Given the description of an element on the screen output the (x, y) to click on. 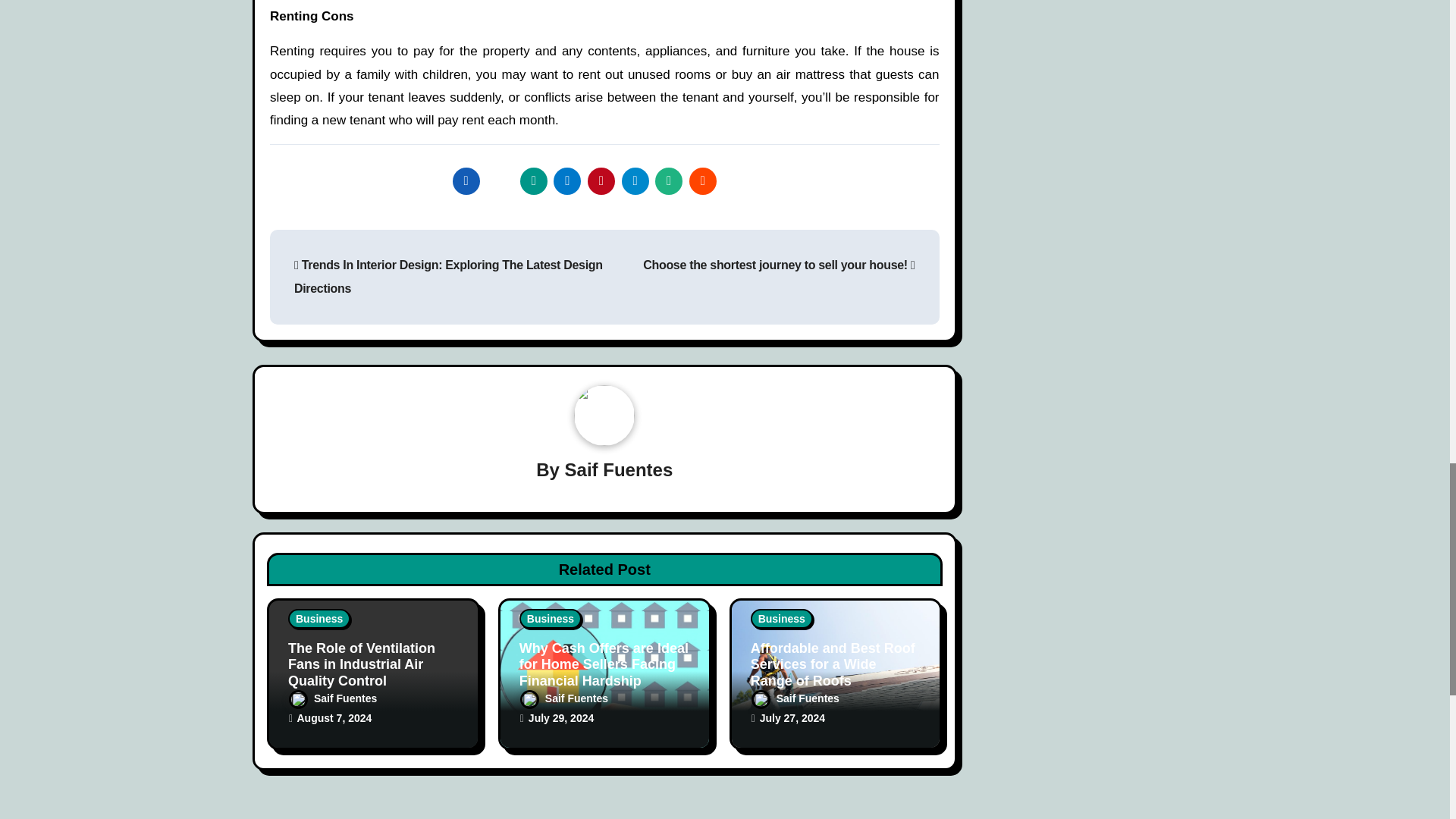
Saif Fuentes (618, 469)
Business (319, 618)
Choose the shortest journey to sell your house! (778, 264)
